Given the description of an element on the screen output the (x, y) to click on. 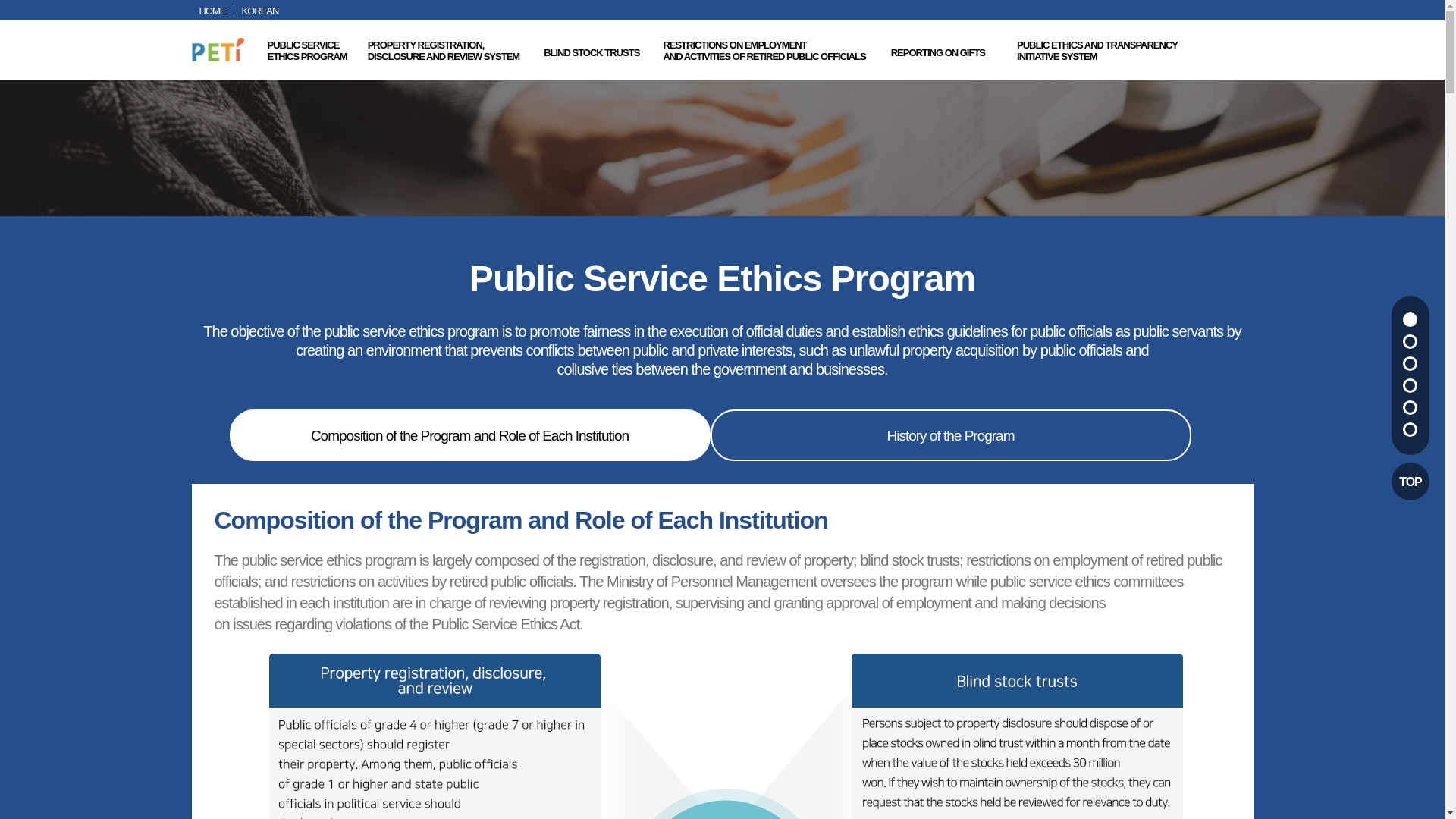
KOREAN (259, 10)
BLIND STOCK TRUSTS (591, 52)
HOME (443, 50)
TOP (306, 50)
REPORTING ON GIFTS (211, 10)
